Given the description of an element on the screen output the (x, y) to click on. 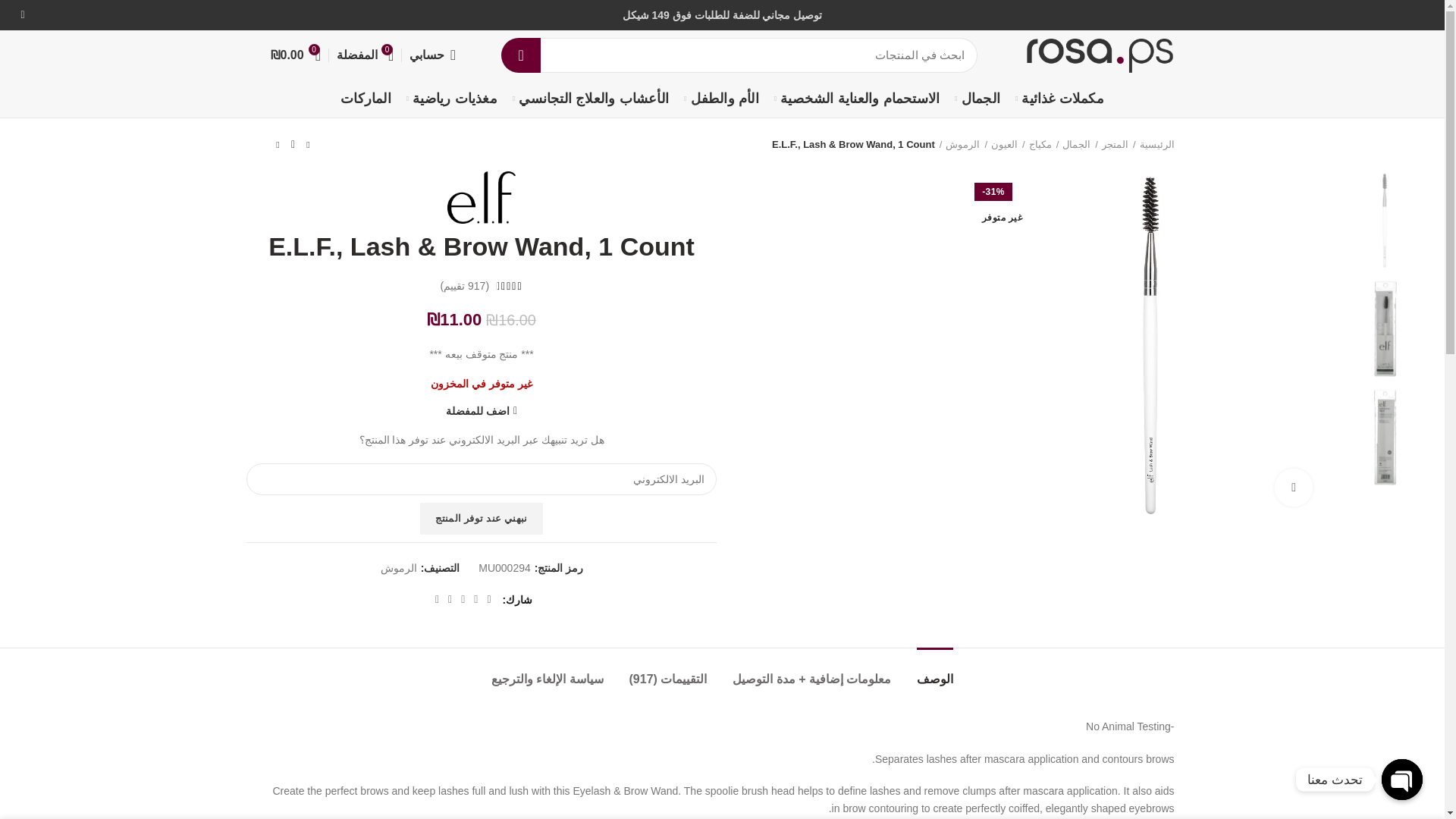
5 (1384, 219)
E.L.F. (480, 197)
5 (1148, 344)
3 (1384, 328)
SEARCH (520, 54)
4 (1384, 437)
